Given the description of an element on the screen output the (x, y) to click on. 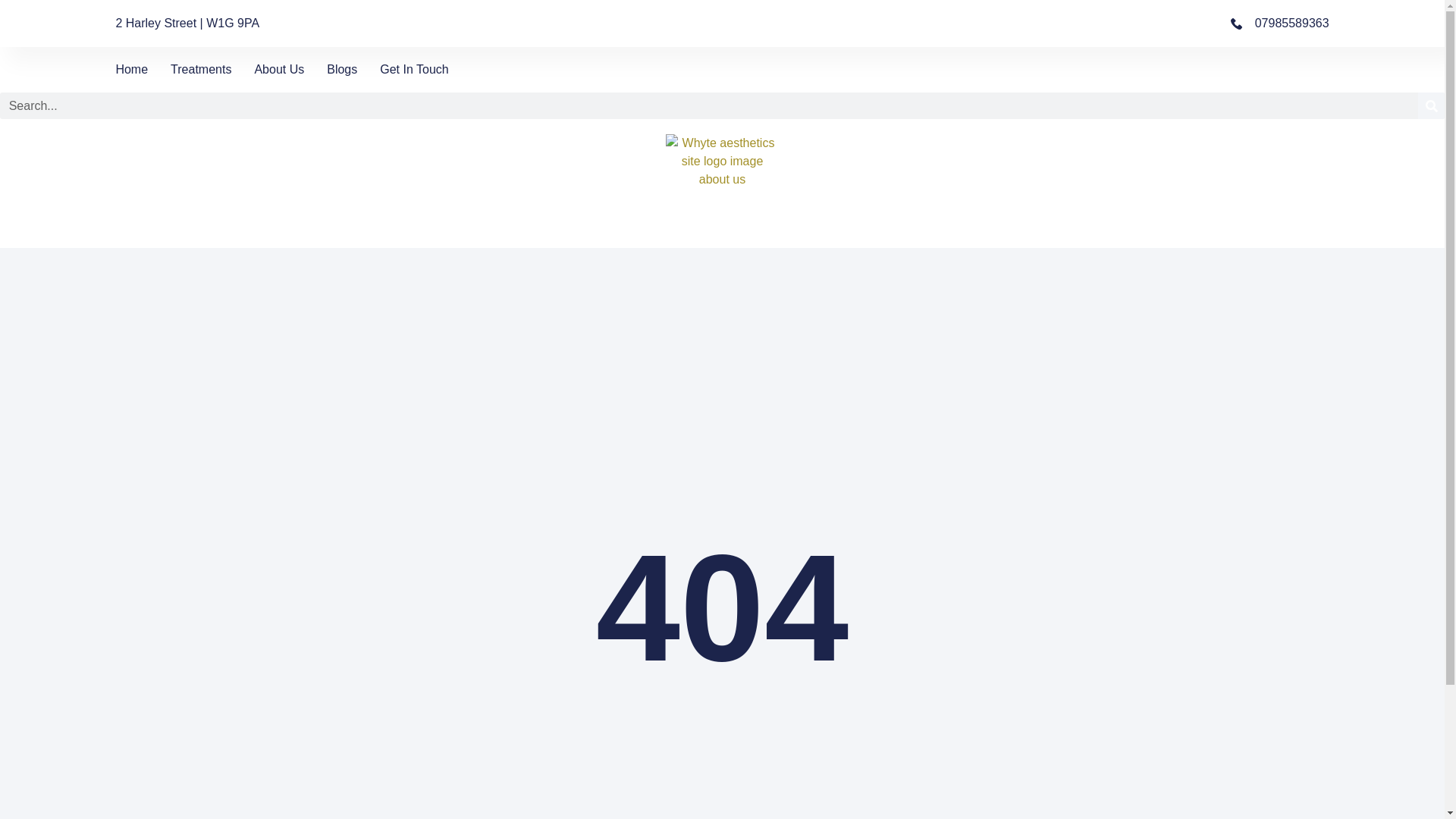
07985589363 (1279, 23)
Get In Touch (414, 69)
About Us (278, 69)
Treatments (200, 69)
Blogs (341, 69)
Home (131, 69)
